Given the description of an element on the screen output the (x, y) to click on. 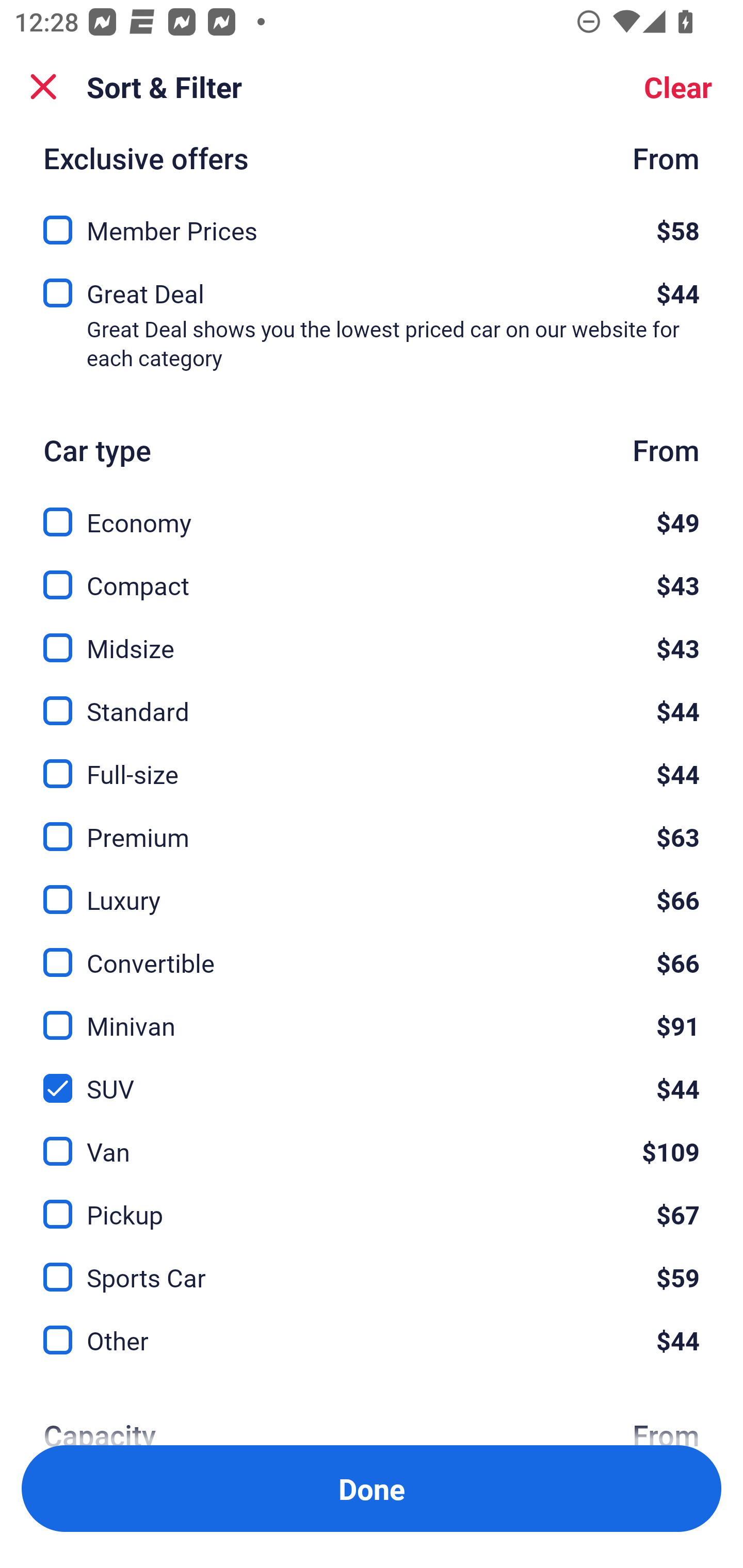
Close Sort and Filter (43, 86)
Clear (677, 86)
Member Prices, $58 Member Prices $58 (371, 223)
Economy, $49 Economy $49 (371, 510)
Compact, $43 Compact $43 (371, 573)
Midsize, $43 Midsize $43 (371, 636)
Standard, $44 Standard $44 (371, 698)
Full-size, $44 Full-size $44 (371, 761)
Premium, $63 Premium $63 (371, 824)
Luxury, $66 Luxury $66 (371, 888)
Convertible, $66 Convertible $66 (371, 951)
Minivan, $91 Minivan $91 (371, 1014)
SUV, $44 SUV $44 (371, 1076)
Van, $109 Van $109 (371, 1139)
Pickup, $67 Pickup $67 (371, 1202)
Sports Car, $59 Sports Car $59 (371, 1265)
Other, $44 Other $44 (371, 1340)
Apply and close Sort and Filter Done (371, 1488)
